Given the description of an element on the screen output the (x, y) to click on. 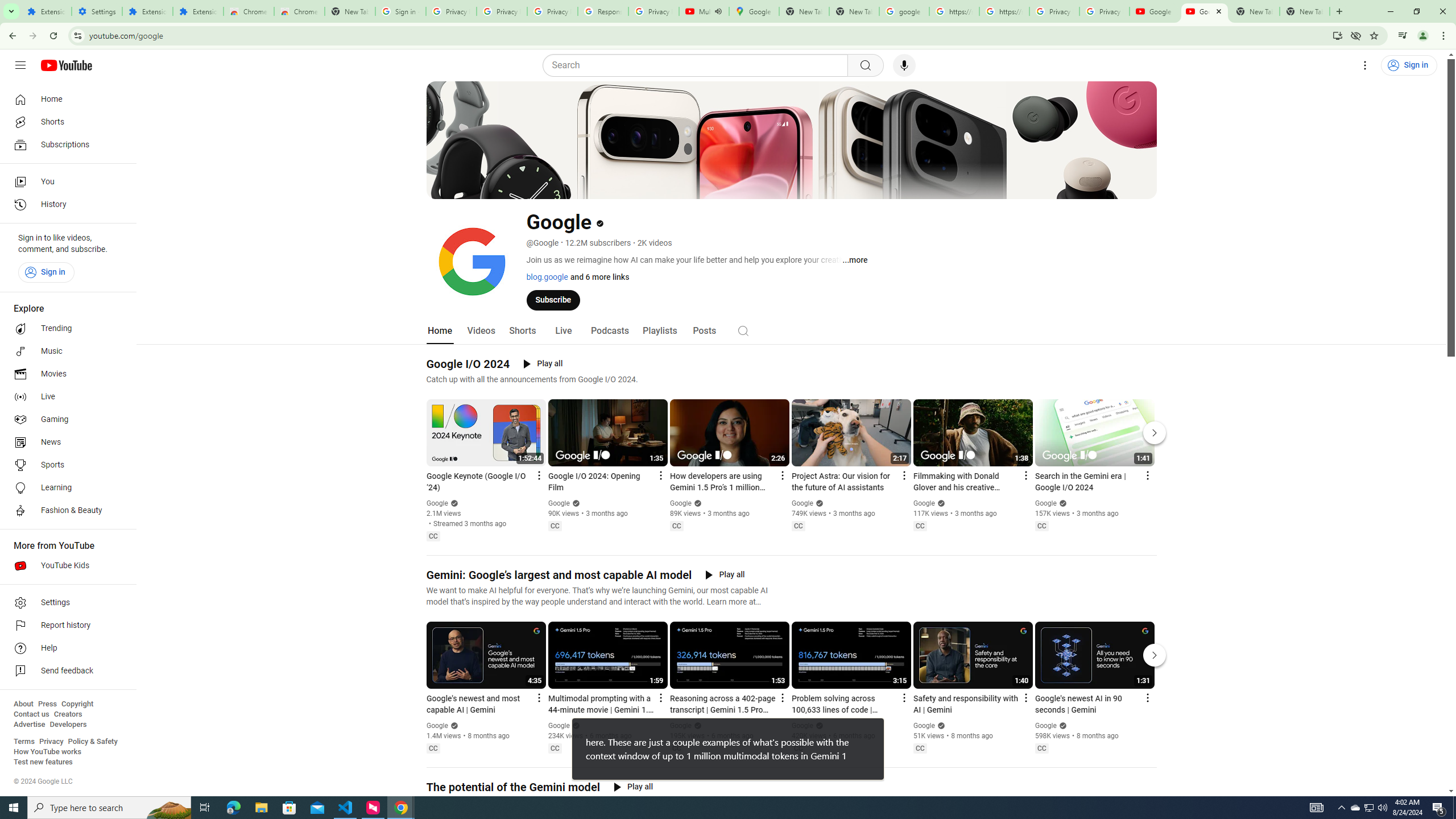
Search with your voice (903, 65)
Terms (23, 741)
Sports (64, 464)
Test new features (42, 761)
Posts (703, 330)
Sign in (45, 272)
Subscribe (552, 299)
Help (64, 648)
Extensions (197, 11)
Subscriptions (64, 144)
